Given the description of an element on the screen output the (x, y) to click on. 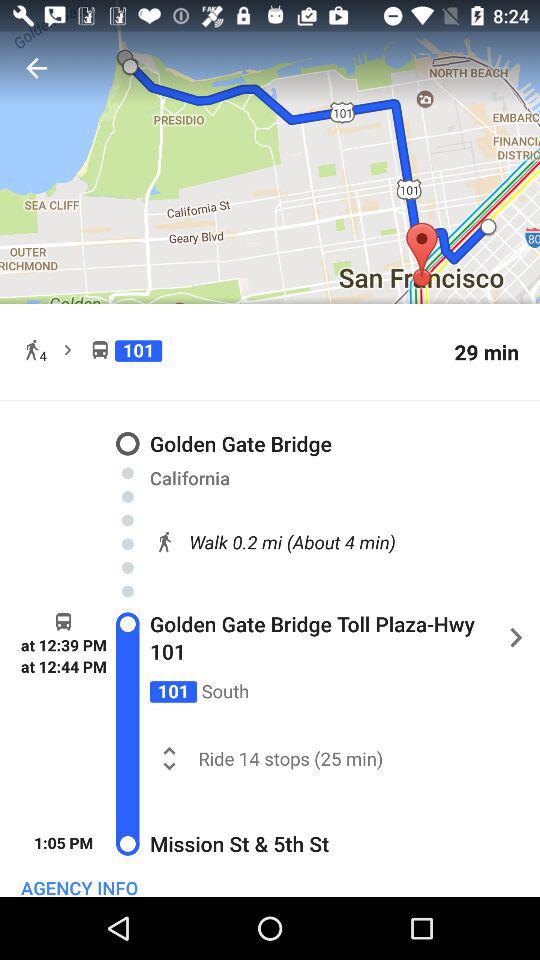
click on the next arrow button to the right of the digit 4 (63, 345)
